Given the description of an element on the screen output the (x, y) to click on. 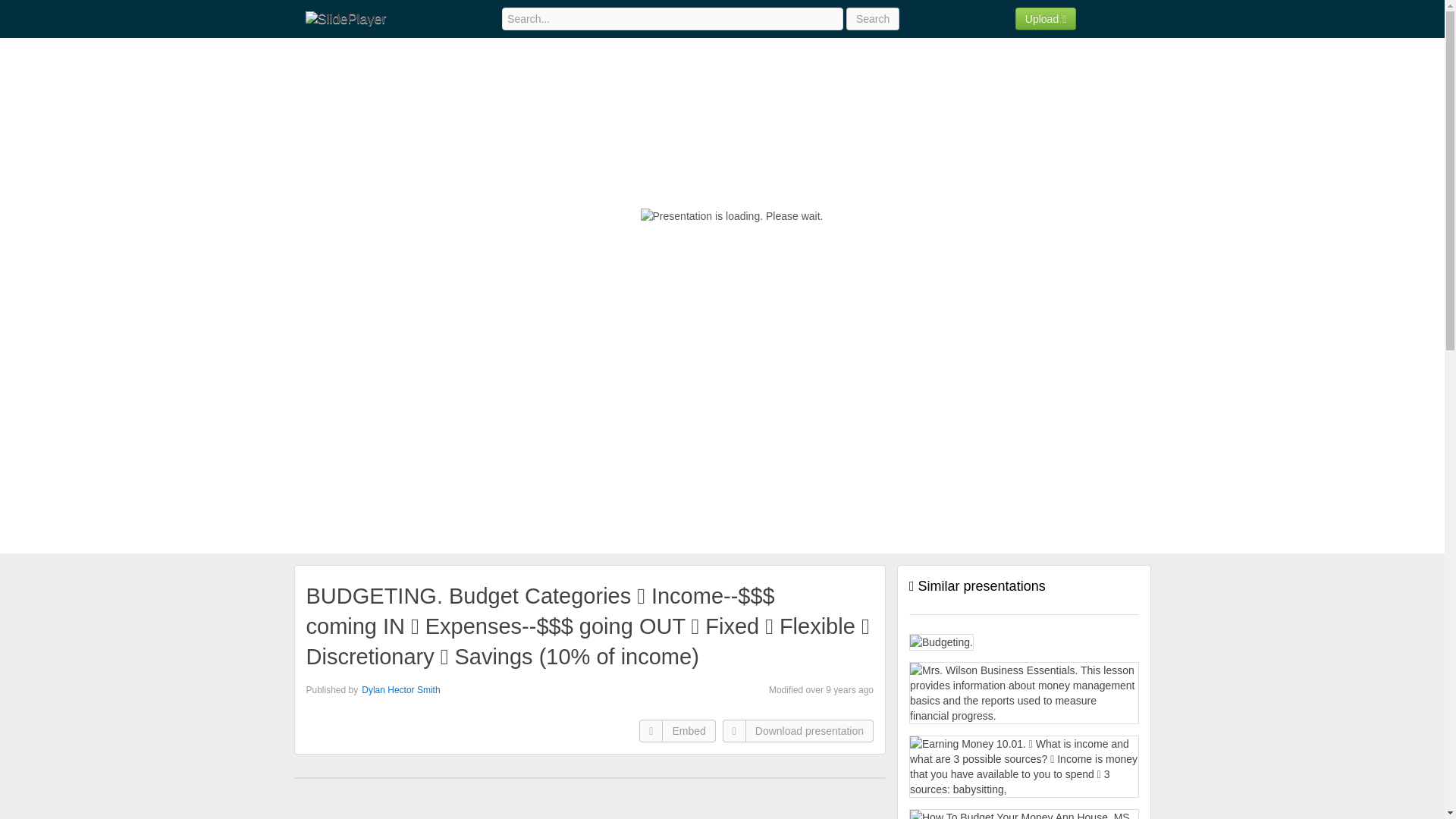
Dylan Hector Smith (400, 689)
Presentation is loading. Please wait. (732, 215)
SlidePlayer (344, 17)
Upload (1045, 18)
Search (872, 18)
